Given the description of an element on the screen output the (x, y) to click on. 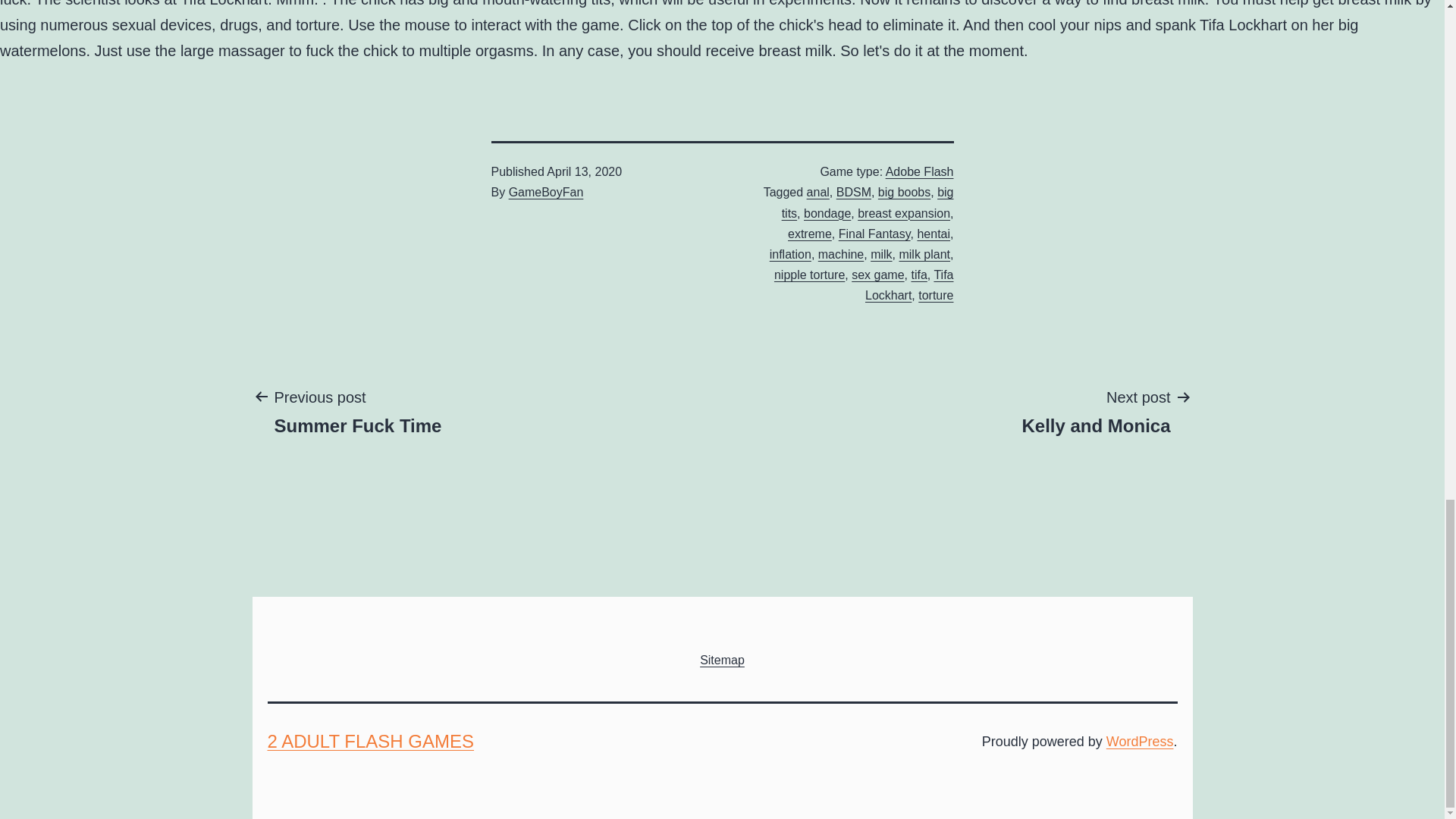
extreme (809, 233)
milk (880, 254)
2 ADULT FLASH GAMES (370, 741)
machine (840, 254)
milk plant (924, 254)
Tifa Lockhart (908, 285)
hentai (933, 233)
Adobe Flash (1095, 410)
nipple torture (919, 171)
anal (357, 410)
big tits (809, 274)
torture (817, 192)
Sitemap (867, 202)
